Given the description of an element on the screen output the (x, y) to click on. 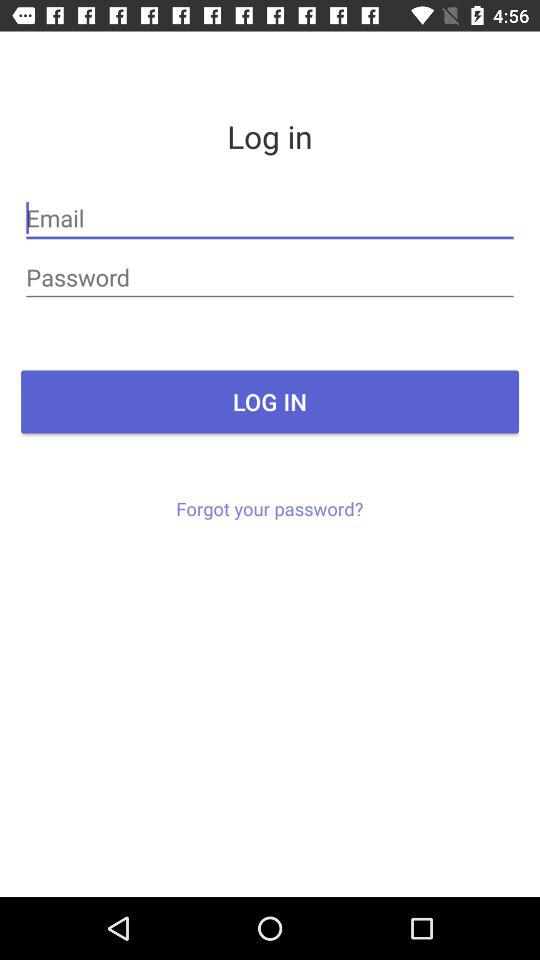
open the item below log in (270, 218)
